Given the description of an element on the screen output the (x, y) to click on. 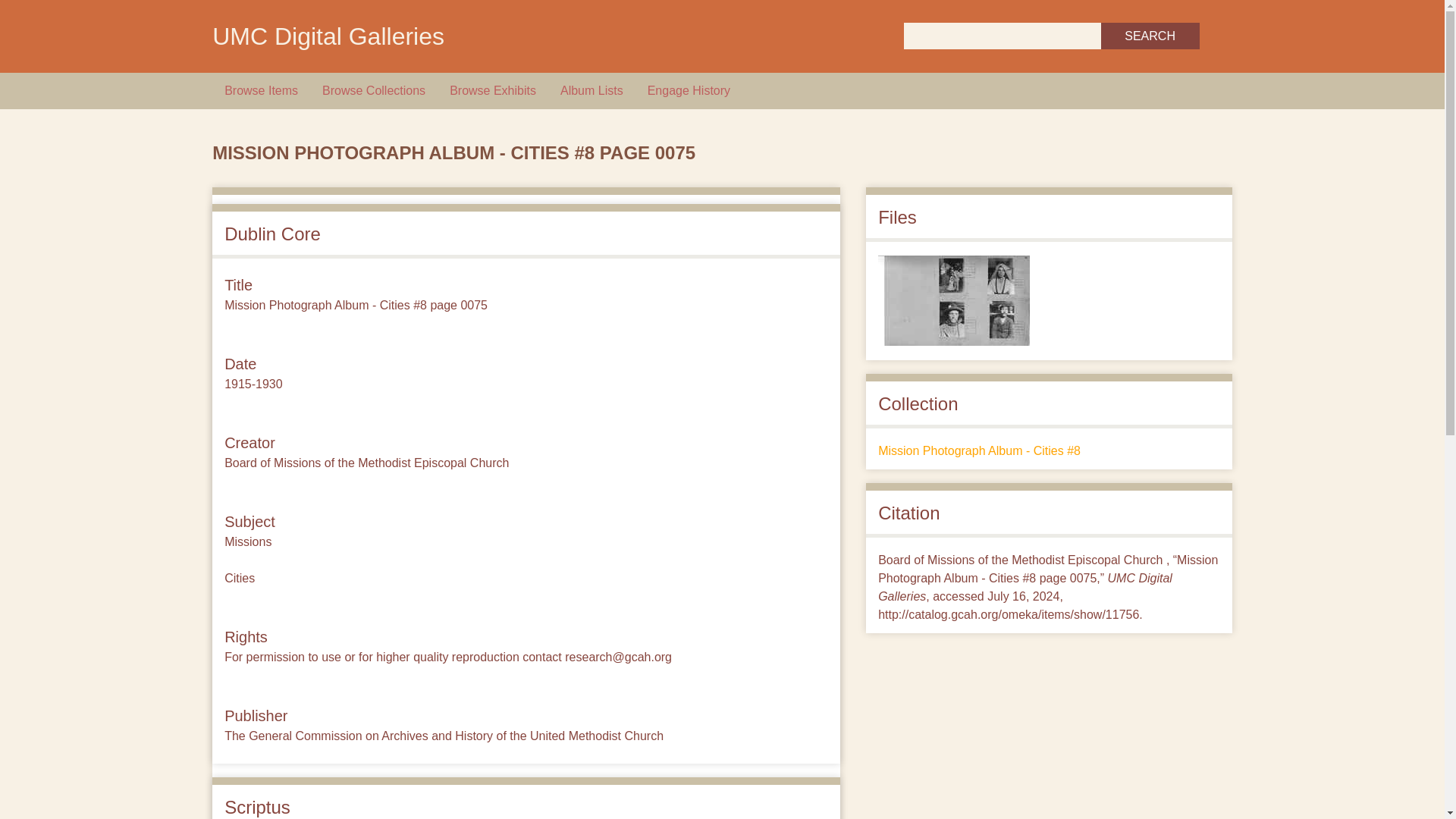
Album Lists (591, 90)
Browse Items (261, 90)
Browse Exhibits (493, 90)
Search (1149, 35)
Engage History (688, 90)
Browse Collections (374, 90)
UMC Digital Galleries (328, 35)
Search (1149, 35)
